Given the description of an element on the screen output the (x, y) to click on. 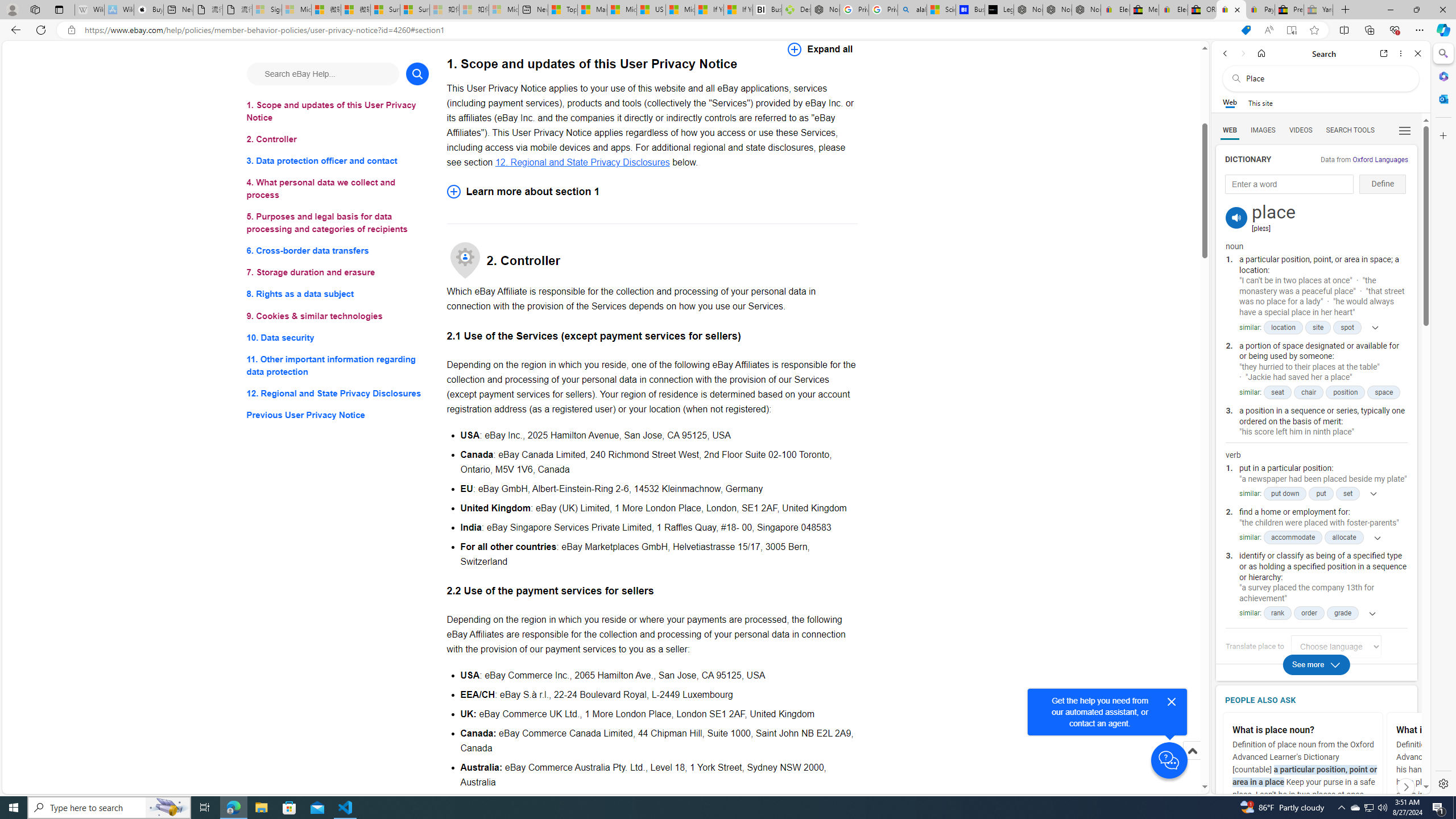
Expand all (820, 49)
8. Rights as a data subject (337, 293)
6. Cross-border data transfers (337, 250)
4. What personal data we collect and process (337, 189)
3. Data protection officer and contact (337, 160)
rank (1277, 613)
2. Controller (337, 138)
Marine life - MSN (591, 9)
Enter a word (1289, 184)
This site scope (1259, 102)
